Given the description of an element on the screen output the (x, y) to click on. 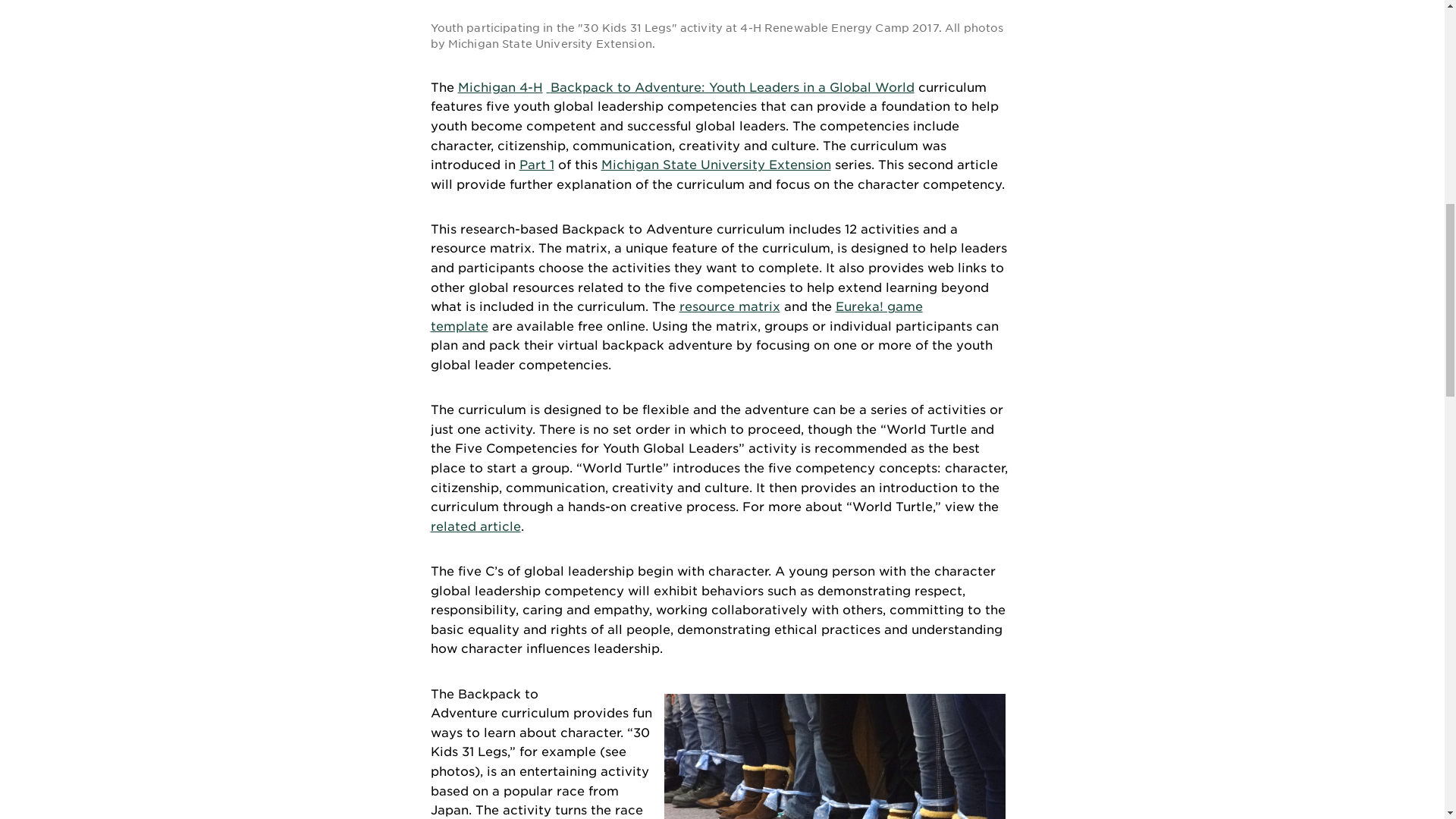
Michigan State University Extension (714, 164)
Part 1 (535, 164)
Backpack to Adventure: Youth Leaders in a Global World (732, 87)
resource matrix (729, 306)
Michigan 4-H (500, 87)
related article (475, 526)
Eureka! game template (676, 316)
